Given the description of an element on the screen output the (x, y) to click on. 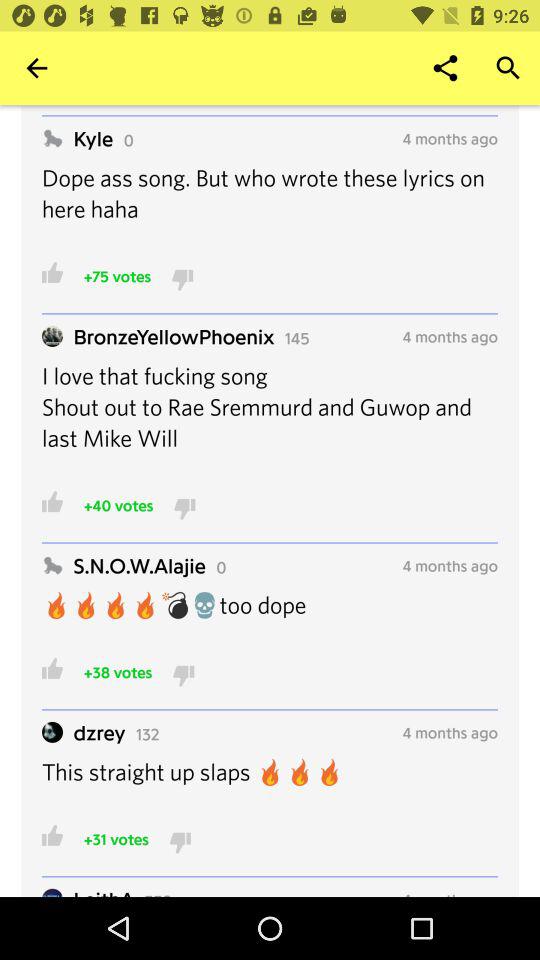
scroll until the +31 votes (116, 838)
